Given the description of an element on the screen output the (x, y) to click on. 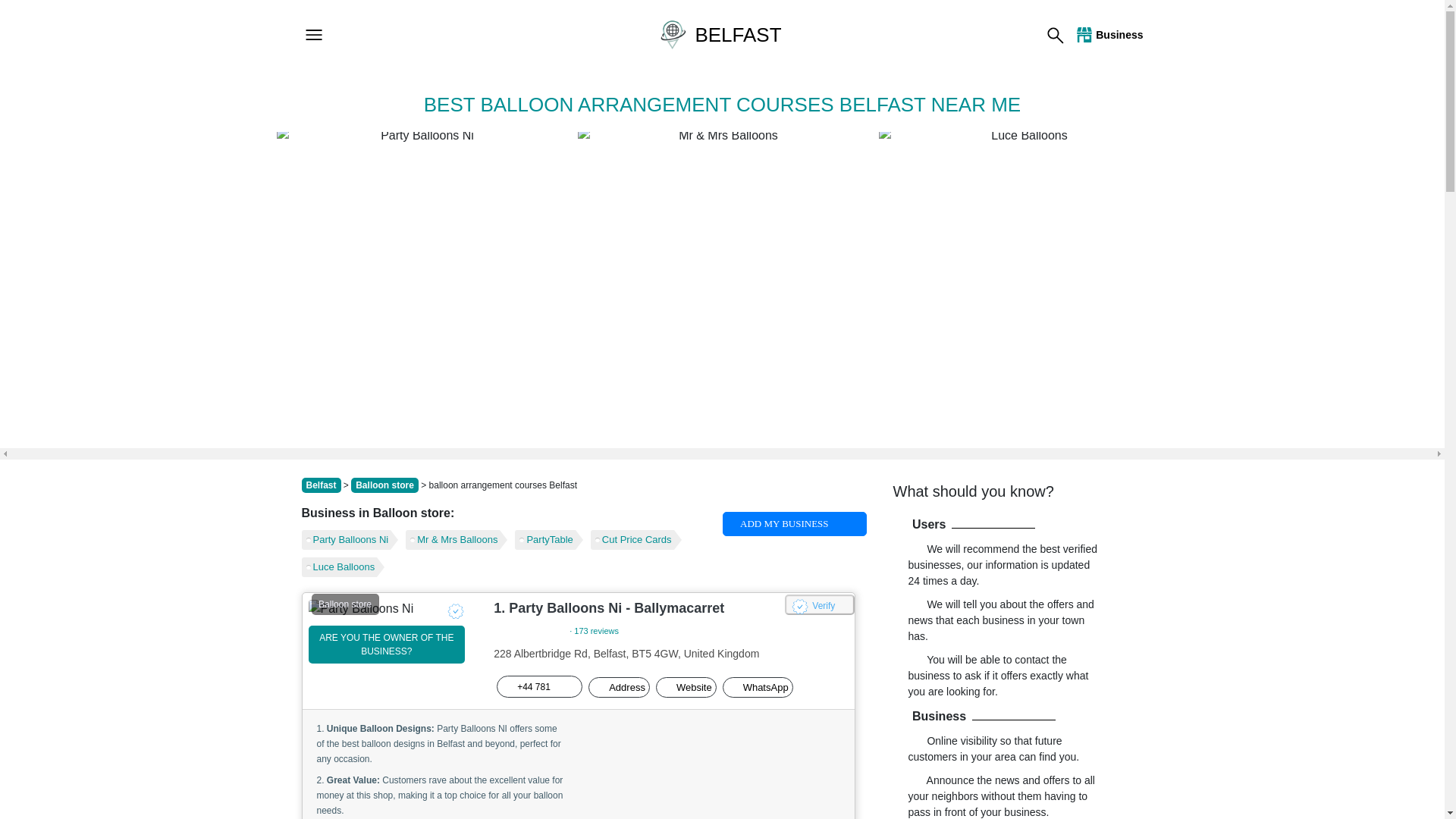
Instagram feed (714, 769)
BELFAST (722, 34)
Business (1107, 35)
